Given the description of an element on the screen output the (x, y) to click on. 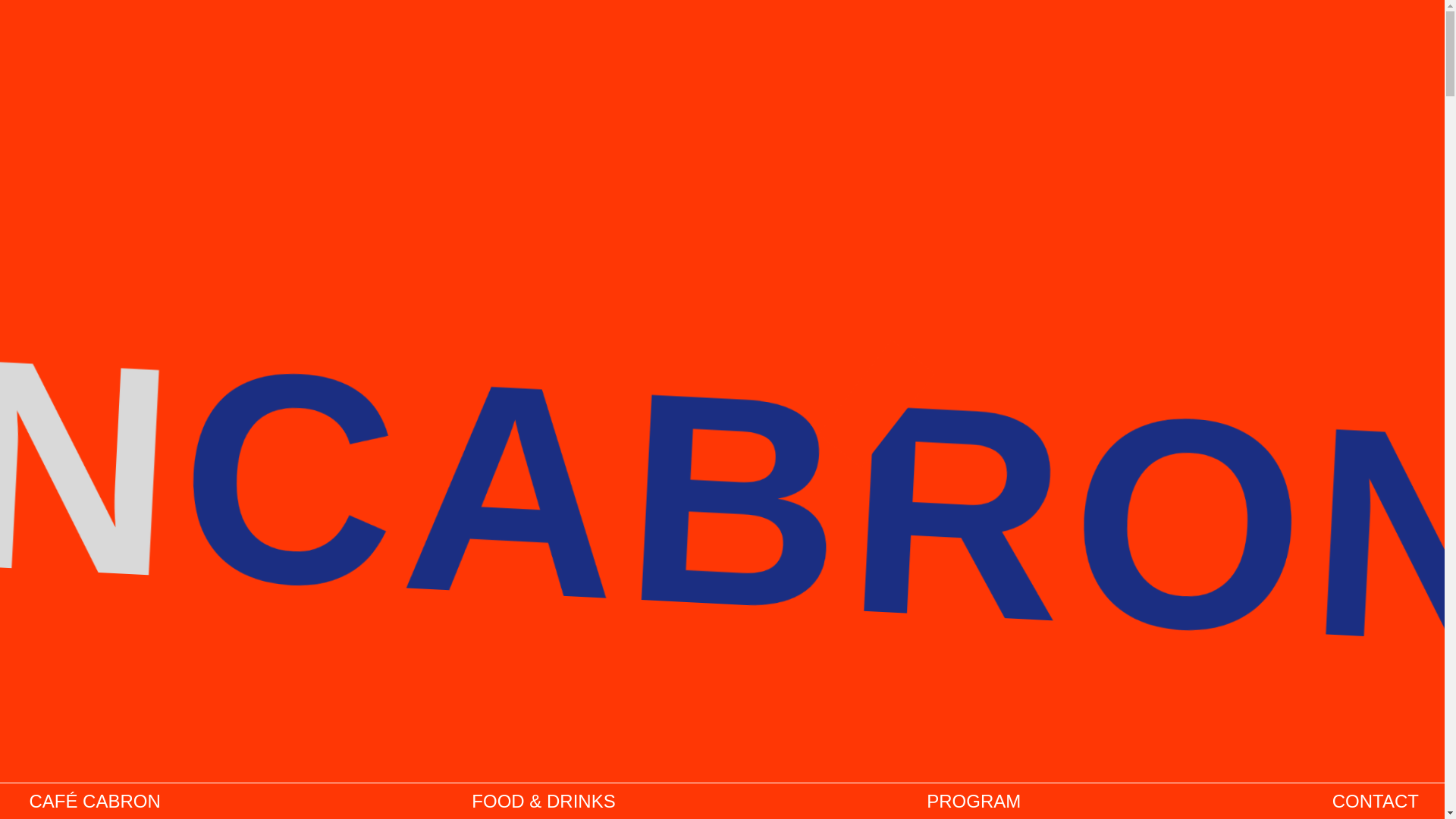
PROGRAM Element type: text (975, 801)
FOOD & DRINKS Element type: text (545, 801)
CONTACT Element type: text (1377, 801)
